Given the description of an element on the screen output the (x, y) to click on. 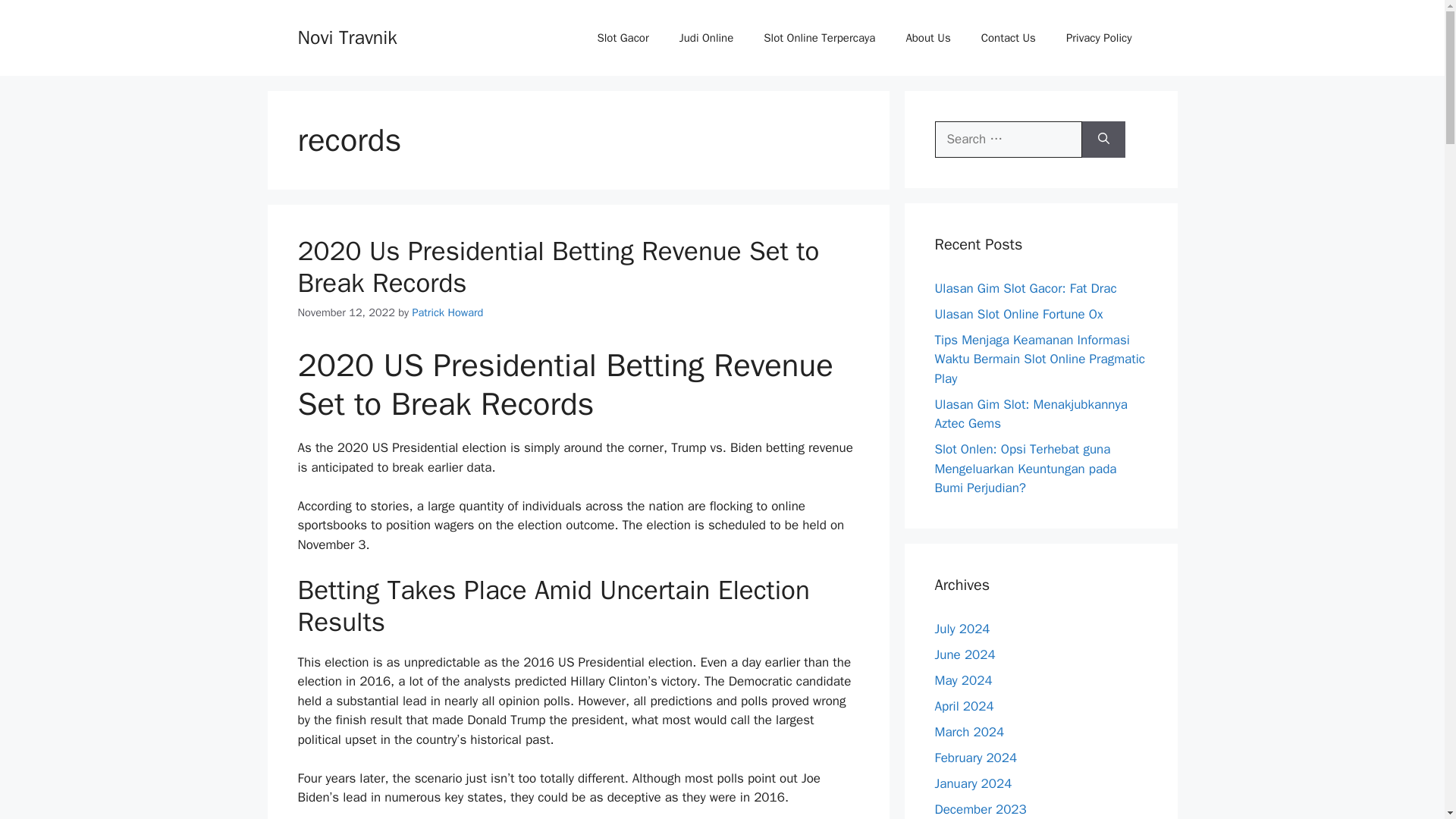
June 2024 (964, 653)
Judi Online (706, 37)
View all posts by Patrick Howard (447, 312)
2020 Us Presidential Betting Revenue Set to Break Records (557, 266)
Ulasan Gim Slot: Menakjubkannya Aztec Gems (1030, 413)
Ulasan Slot Online Fortune Ox (1018, 314)
March 2024 (969, 731)
February 2024 (975, 756)
January 2024 (972, 782)
May 2024 (962, 679)
July 2024 (962, 627)
Contact Us (1008, 37)
December 2023 (980, 808)
Novi Travnik (346, 37)
